Given the description of an element on the screen output the (x, y) to click on. 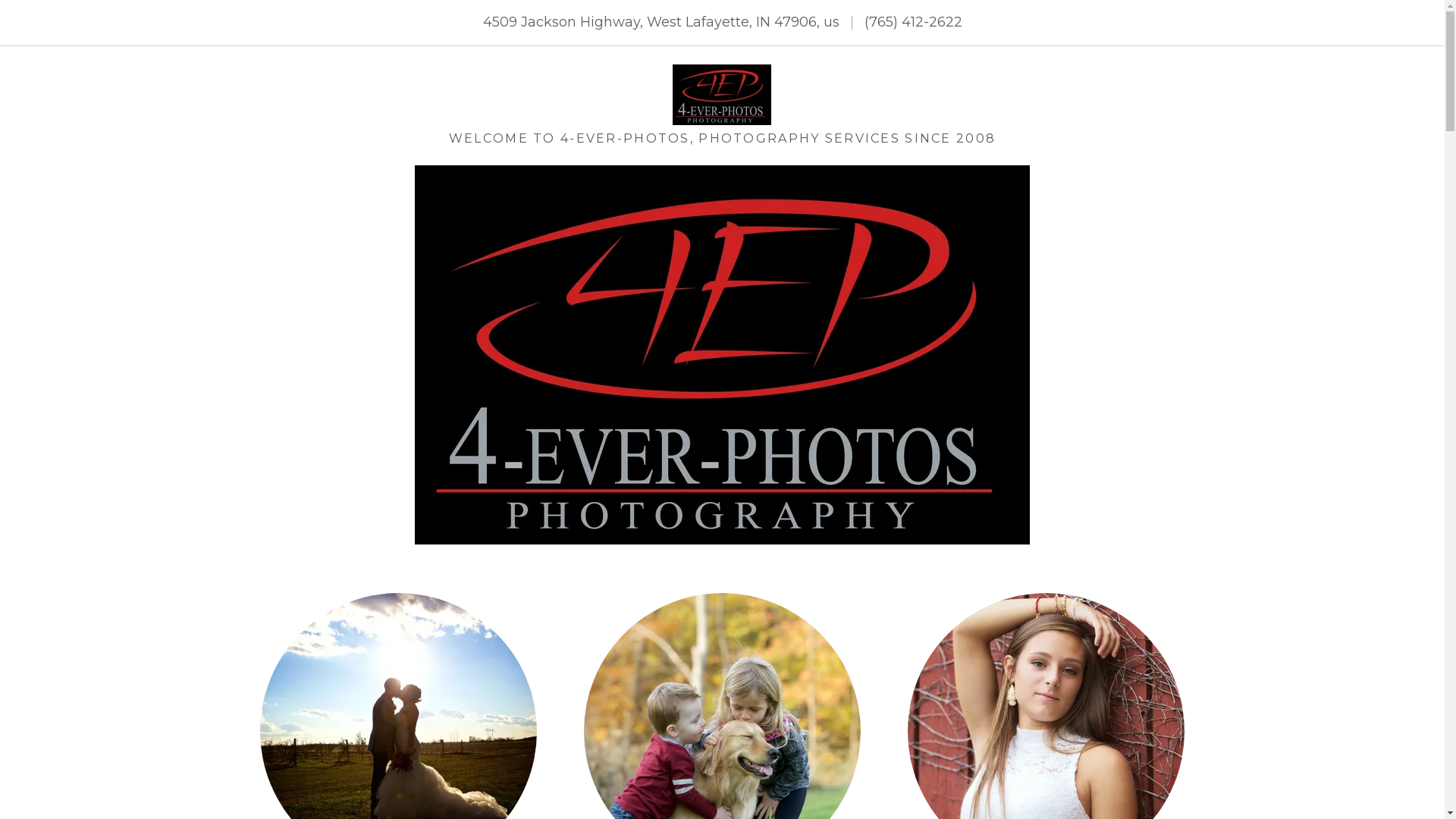
(765) 412-2622 Element type: text (913, 21)
4-Ever-Photos Element type: hover (721, 93)
